Given the description of an element on the screen output the (x, y) to click on. 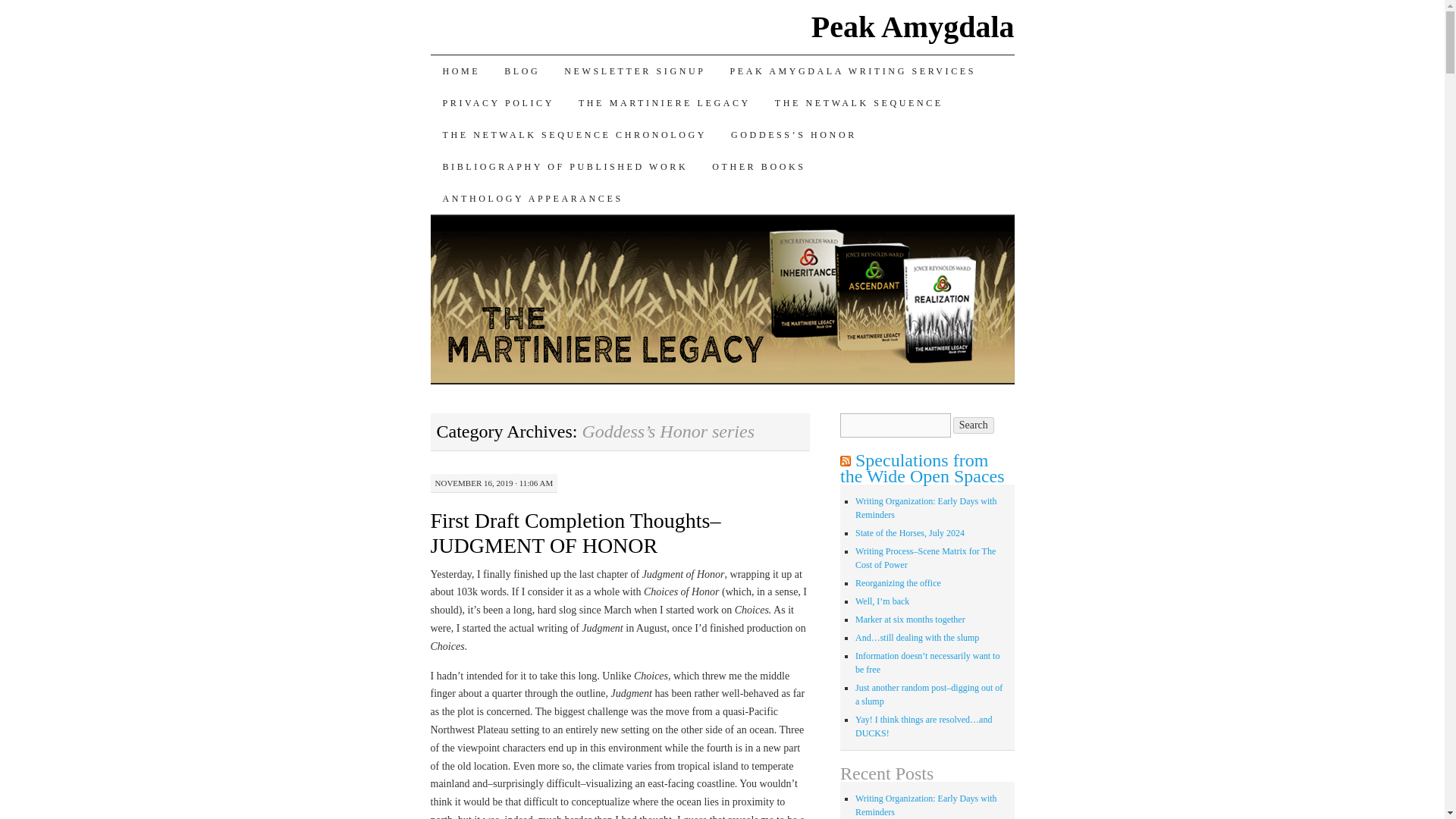
BLOG (521, 70)
PEAK AMYGDALA WRITING SERVICES (852, 70)
HOME (461, 70)
THE NETWALK SEQUENCE (858, 102)
Peak Amygdala (912, 26)
BIBLIOGRAPHY OF PUBLISHED WORK (565, 166)
THE MARTINIERE LEGACY (664, 102)
PRIVACY POLICY (498, 102)
THE NETWALK SEQUENCE CHRONOLOGY (574, 134)
Search (973, 425)
NEWSLETTER SIGNUP (634, 70)
OTHER BOOKS (758, 166)
ANTHOLOGY APPEARANCES (532, 198)
Peak Amygdala (912, 26)
